Given the description of an element on the screen output the (x, y) to click on. 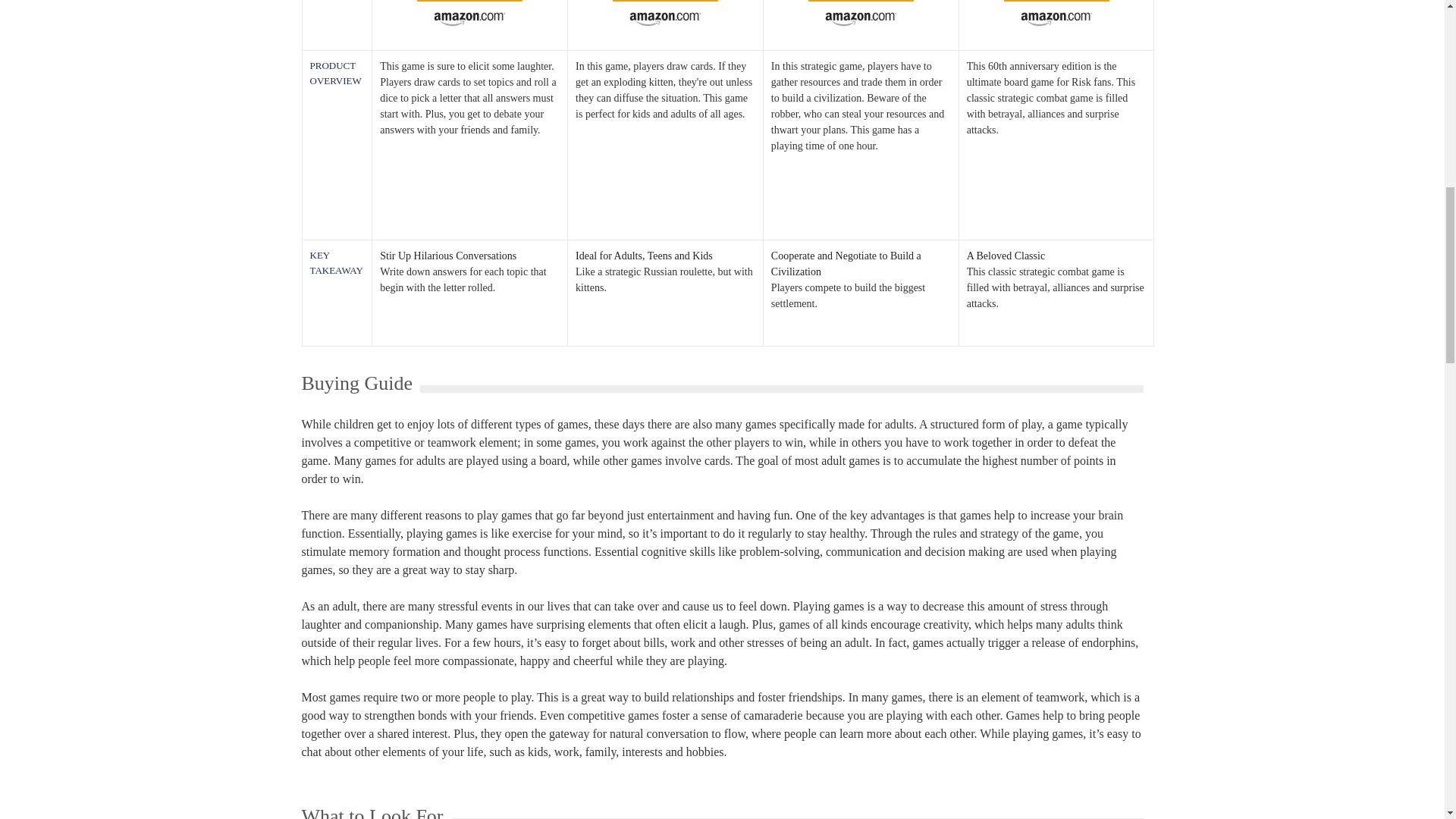
Cooperate and Negotiate to Build a Civilization (860, 264)
Stir Up Hilarious Conversations (469, 255)
Ideal for Adults, Teens and Kids (665, 255)
